Given the description of an element on the screen output the (x, y) to click on. 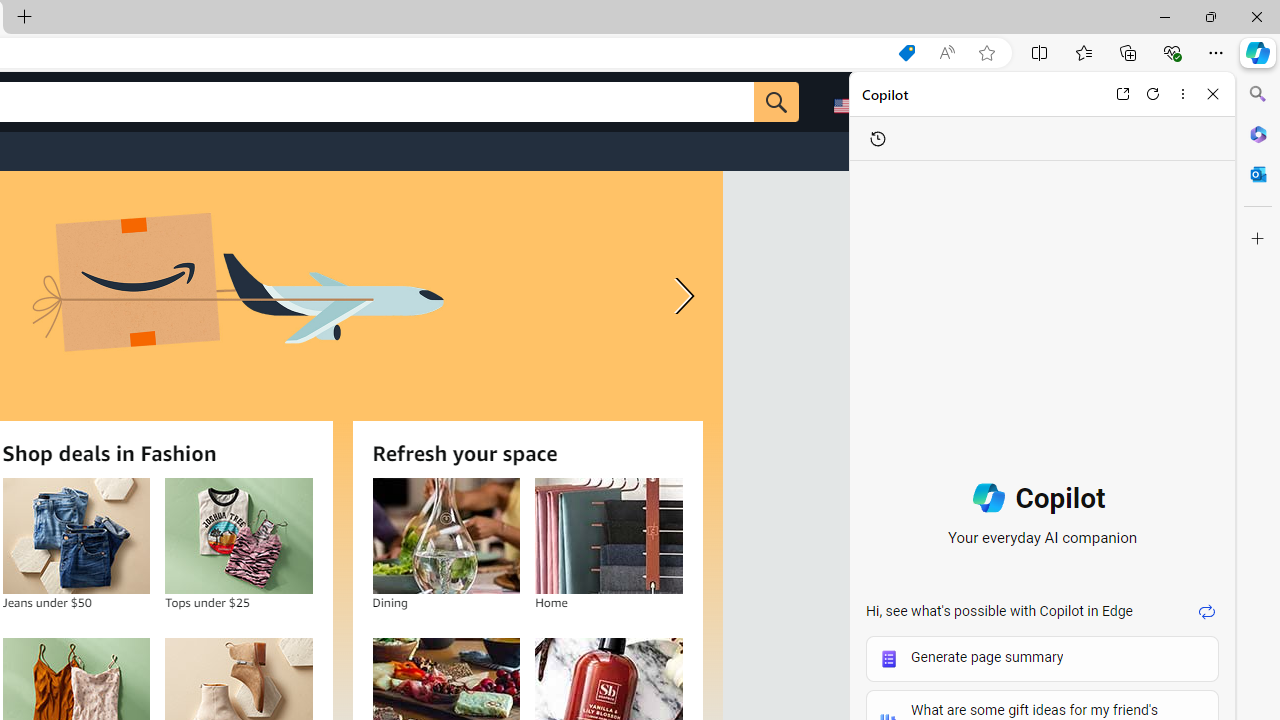
Choose a language for shopping. (858, 101)
0 items in cart (1163, 101)
Next slide (680, 296)
Go (776, 101)
